Given the description of an element on the screen output the (x, y) to click on. 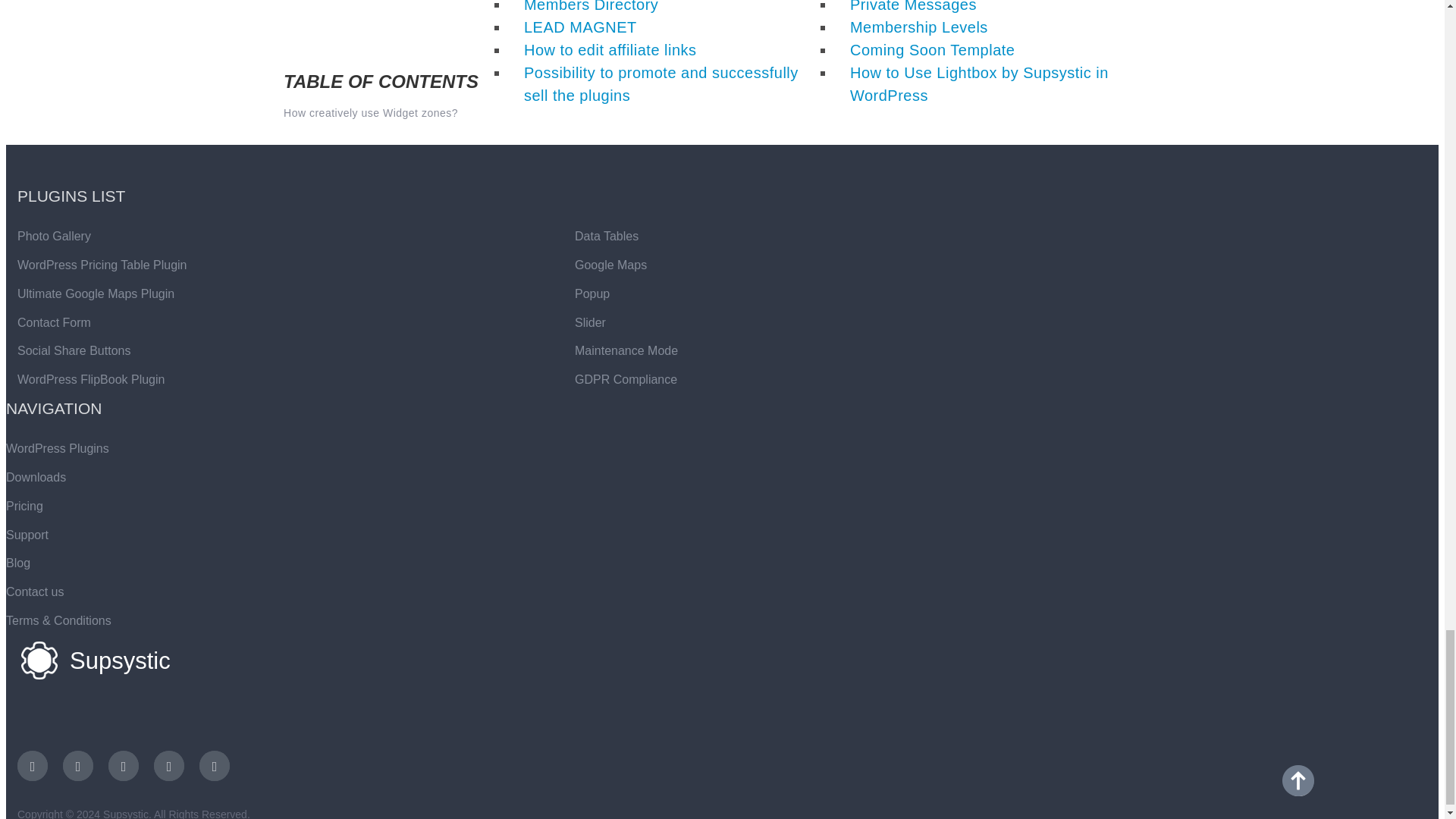
Support (26, 534)
Coming Soon Template (932, 49)
Download WordPress Plugins for Free (35, 477)
Pricing (24, 505)
Members Directory (591, 6)
How to edit affiliate links (610, 49)
Private Messages (913, 6)
LEAD MAGNET (580, 27)
Membership Levels (919, 27)
WordPress Plugins by Supsystic (57, 448)
Possibility to promote and successfully sell the plugins (660, 84)
